Given the description of an element on the screen output the (x, y) to click on. 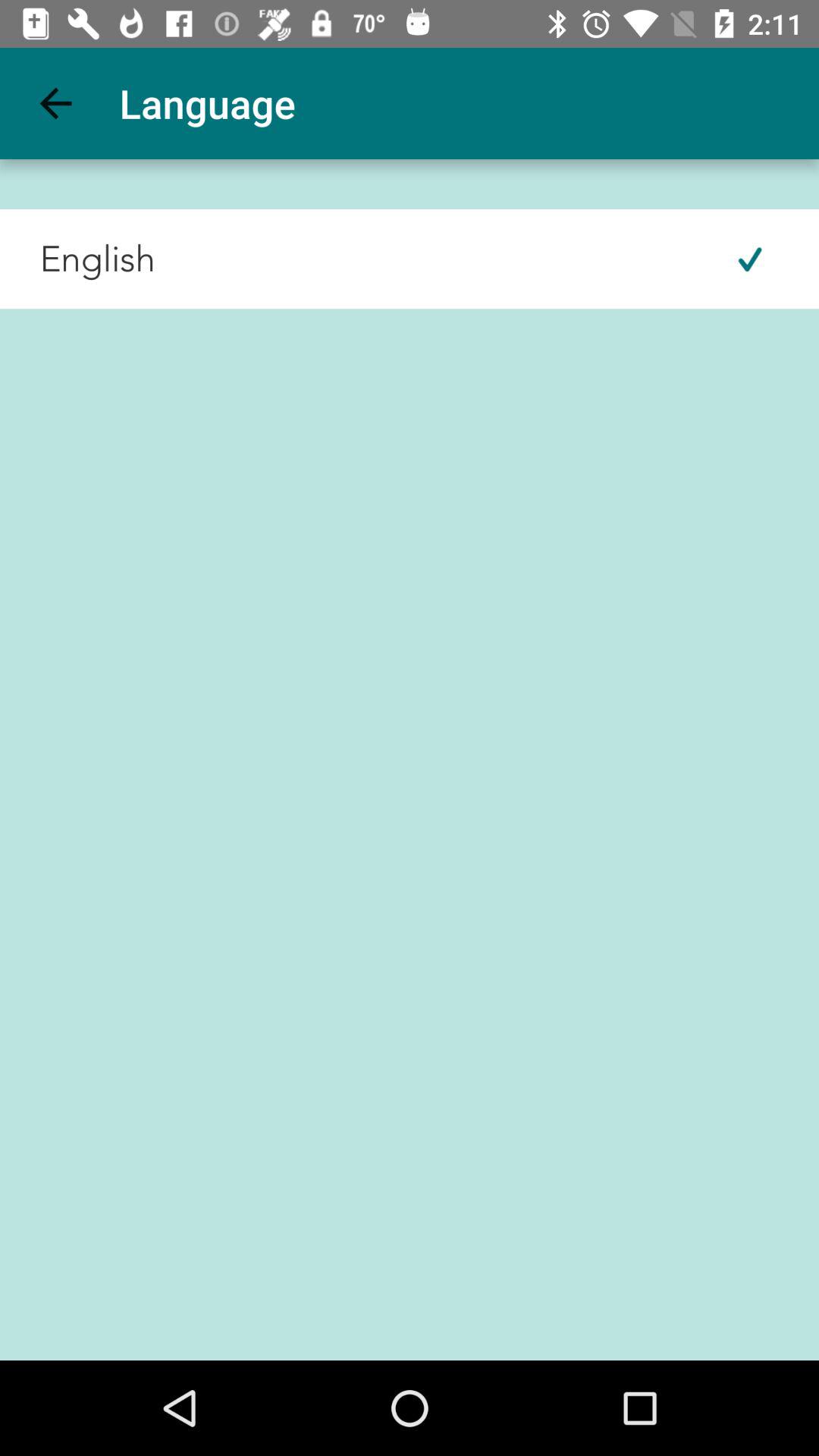
flip until english icon (77, 258)
